Given the description of an element on the screen output the (x, y) to click on. 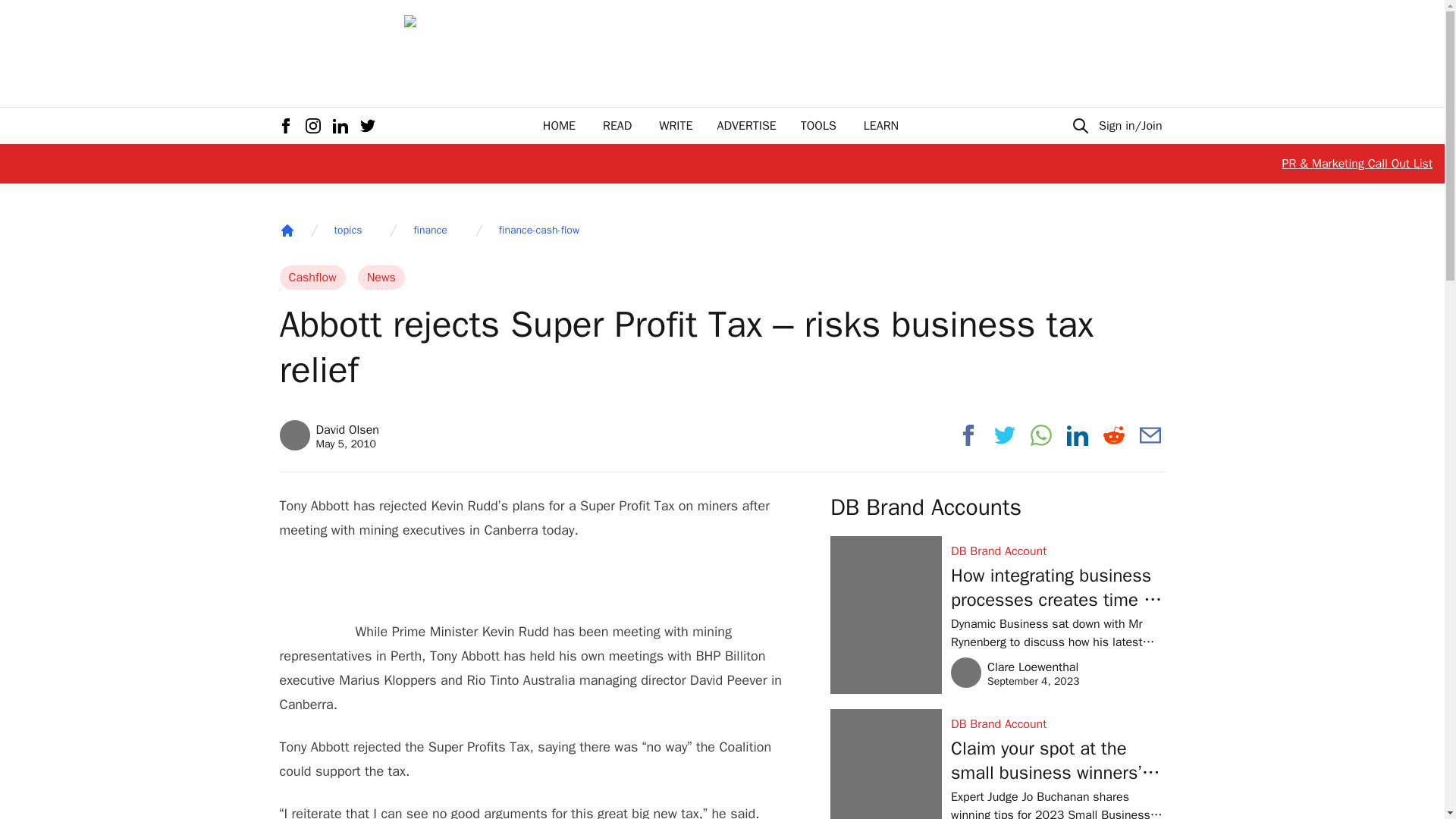
HOME (328, 435)
LEARN (559, 126)
News (880, 126)
topics (381, 277)
Home (347, 230)
READ (286, 230)
Cashflow (616, 126)
WRITE (312, 277)
finance (676, 126)
finance-cash-flow (429, 230)
TOOLS (539, 230)
ADVERTISE (817, 126)
